Given the description of an element on the screen output the (x, y) to click on. 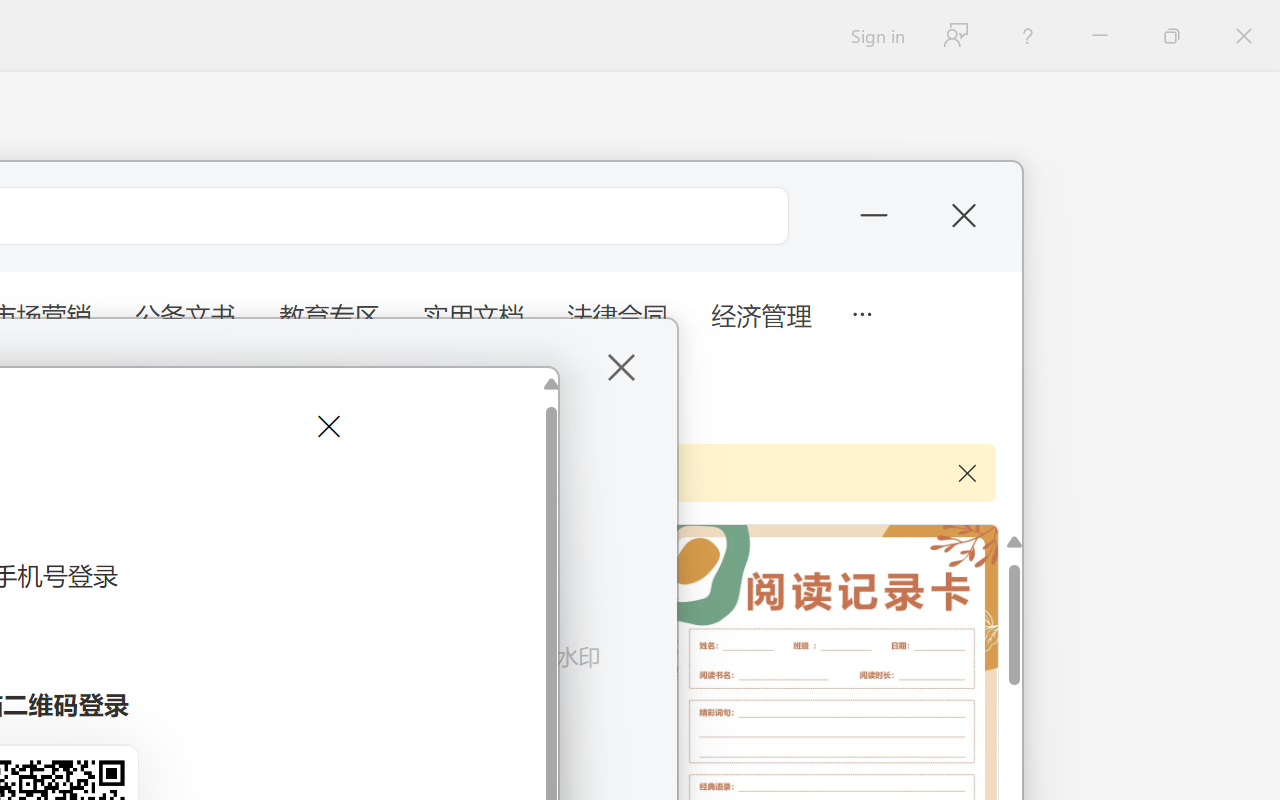
Cancel (326, 425)
Sign in (875, 35)
5 more tabs (861, 312)
